Given the description of an element on the screen output the (x, y) to click on. 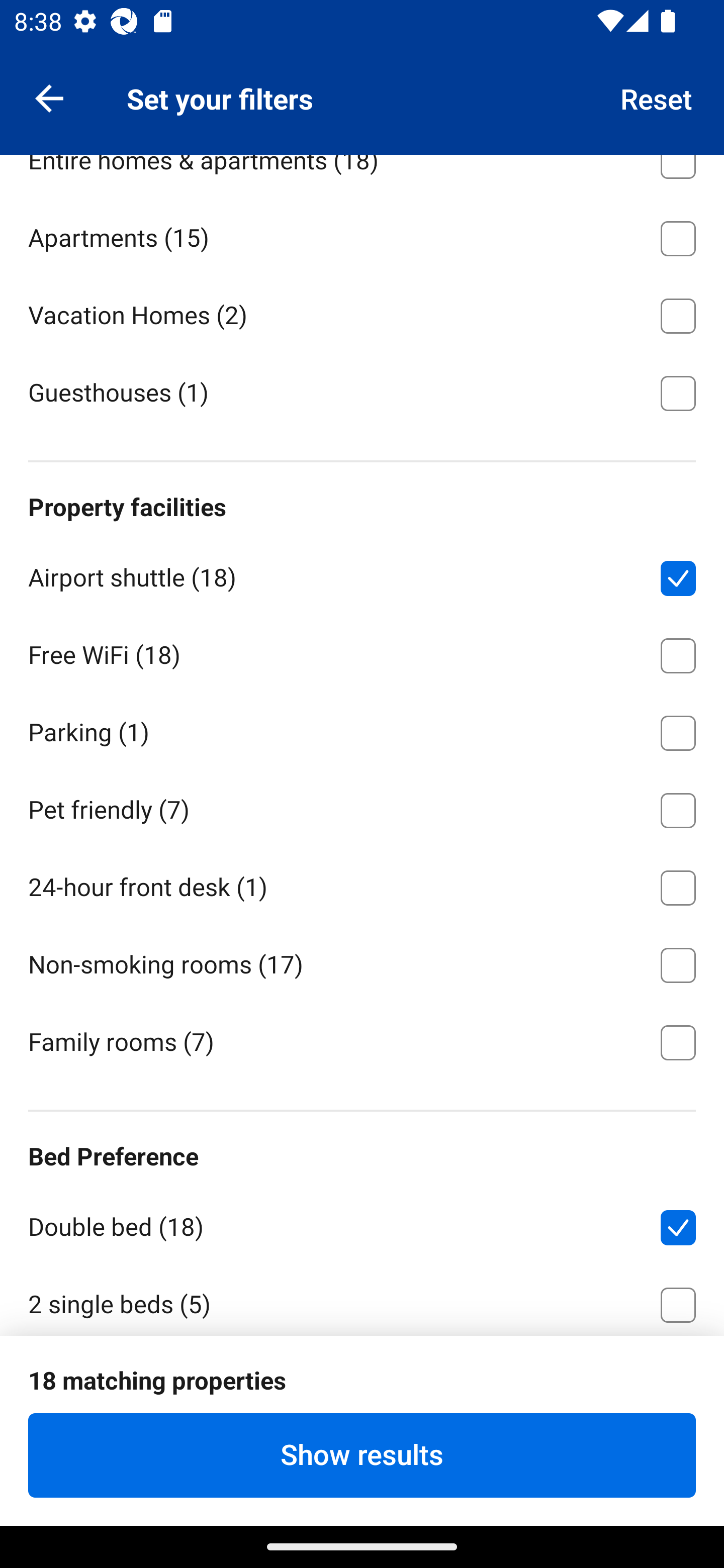
Navigate up (49, 97)
Reset (656, 97)
Entire homes & apartments ⁦(18) (361, 175)
Apartments ⁦(15) (361, 235)
Vacation Homes ⁦(2) (361, 312)
Guesthouses ⁦(1) (361, 391)
Airport shuttle ⁦(18) (361, 574)
Free WiFi ⁦(18) (361, 652)
Parking ⁦(1) (361, 729)
Pet friendly ⁦(7) (361, 806)
24-hour front desk ⁦(1) (361, 884)
Non-smoking rooms ⁦(17) (361, 961)
Family rooms ⁦(7) (361, 1040)
Double bed ⁦(18) (361, 1223)
2 single beds ⁦(5) (361, 1298)
Show results (361, 1454)
